Given the description of an element on the screen output the (x, y) to click on. 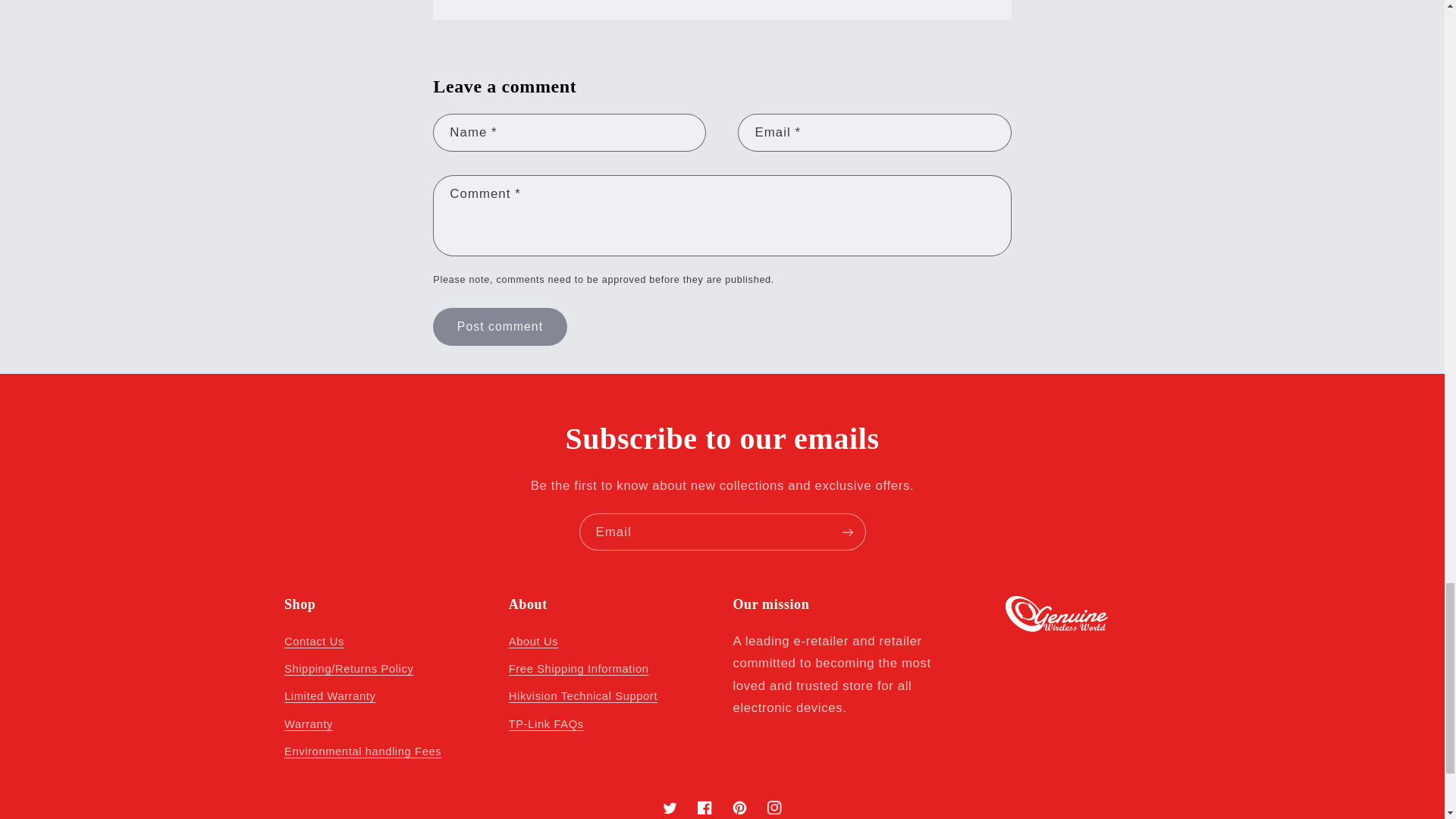
Post comment (499, 325)
